Given the description of an element on the screen output the (x, y) to click on. 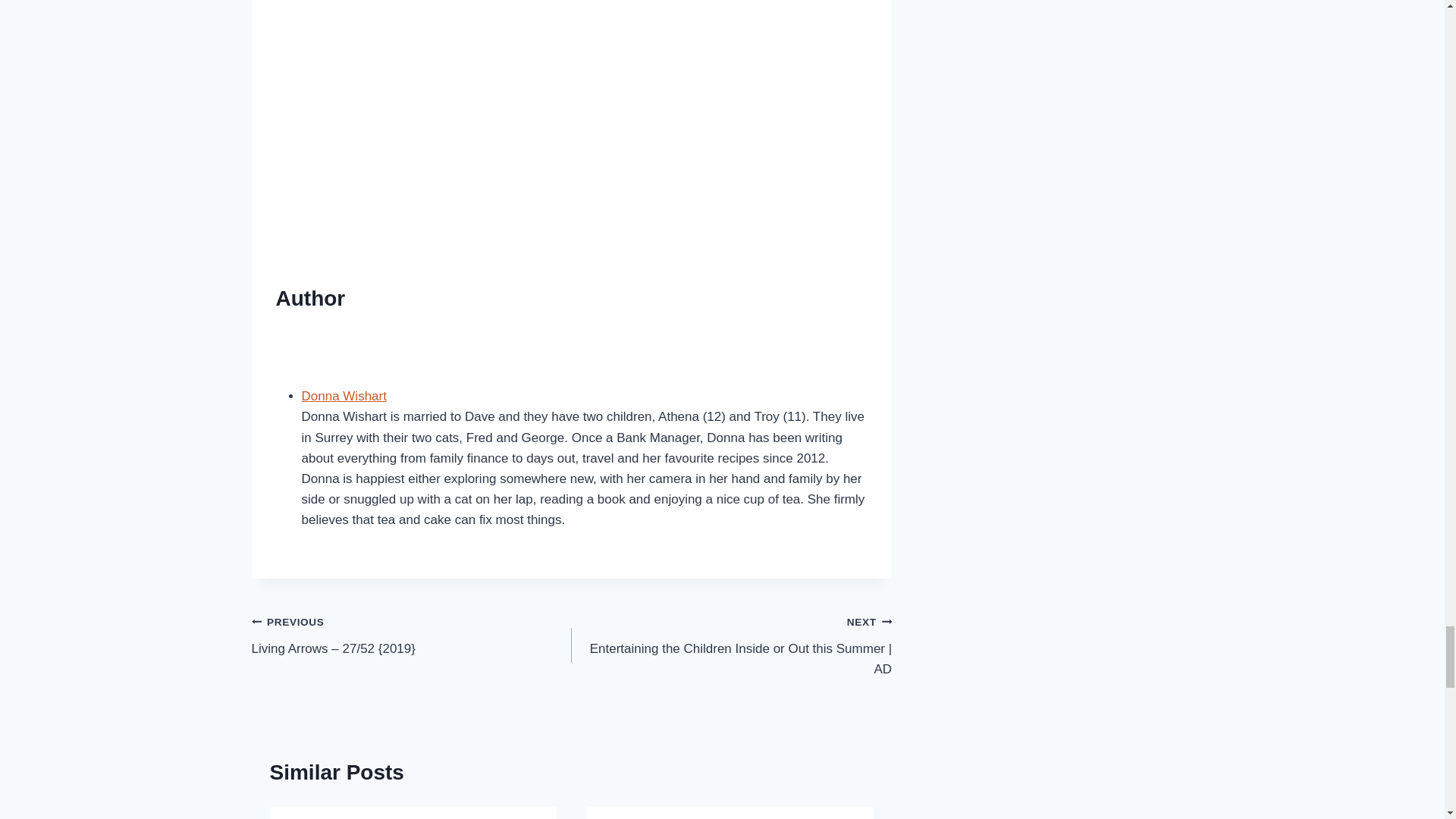
Donna Wishart (344, 396)
